Given the description of an element on the screen output the (x, y) to click on. 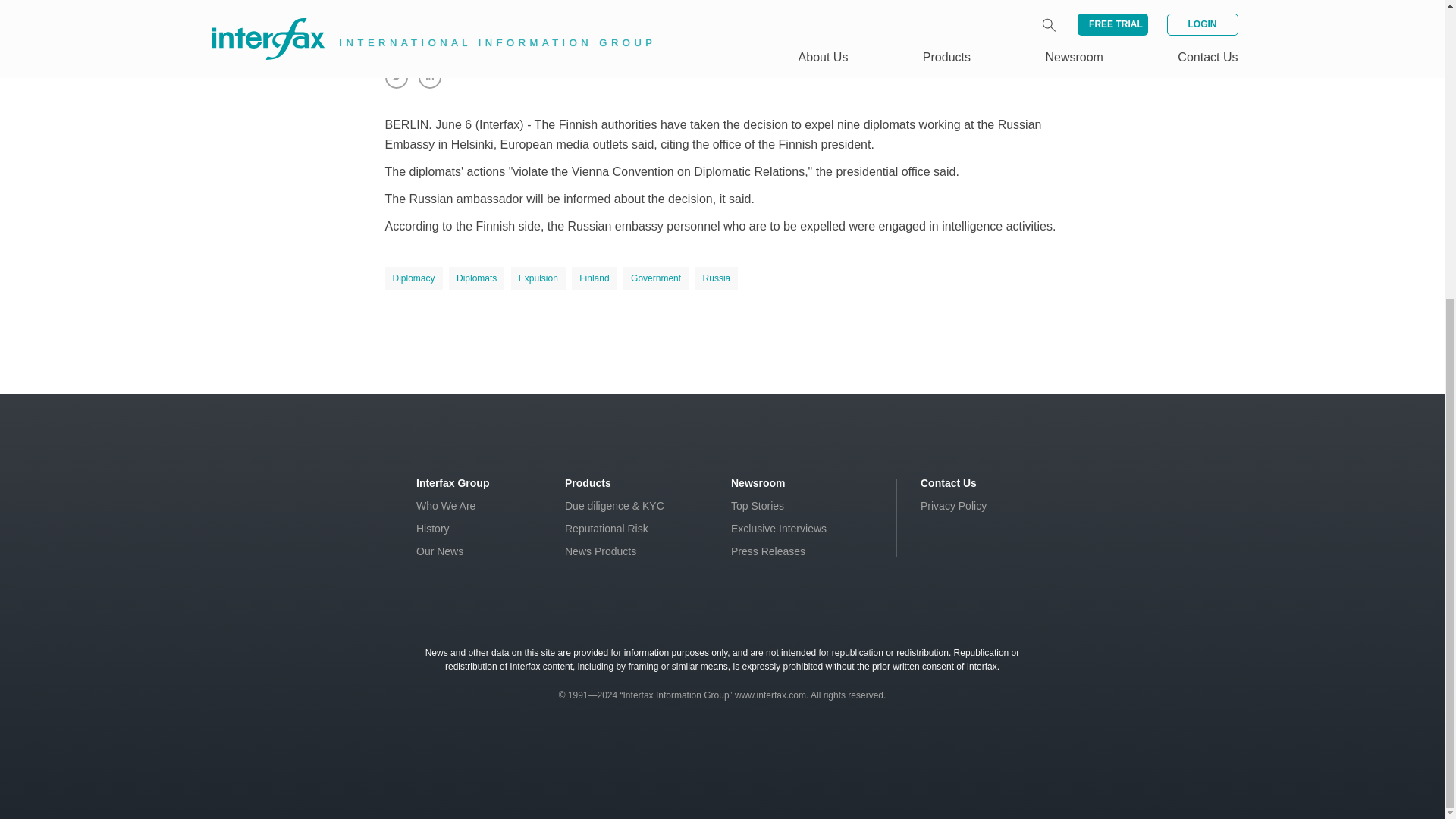
Diplomats (475, 277)
Expulsion (538, 277)
Diplomacy (413, 277)
Finland (593, 277)
